Given the description of an element on the screen output the (x, y) to click on. 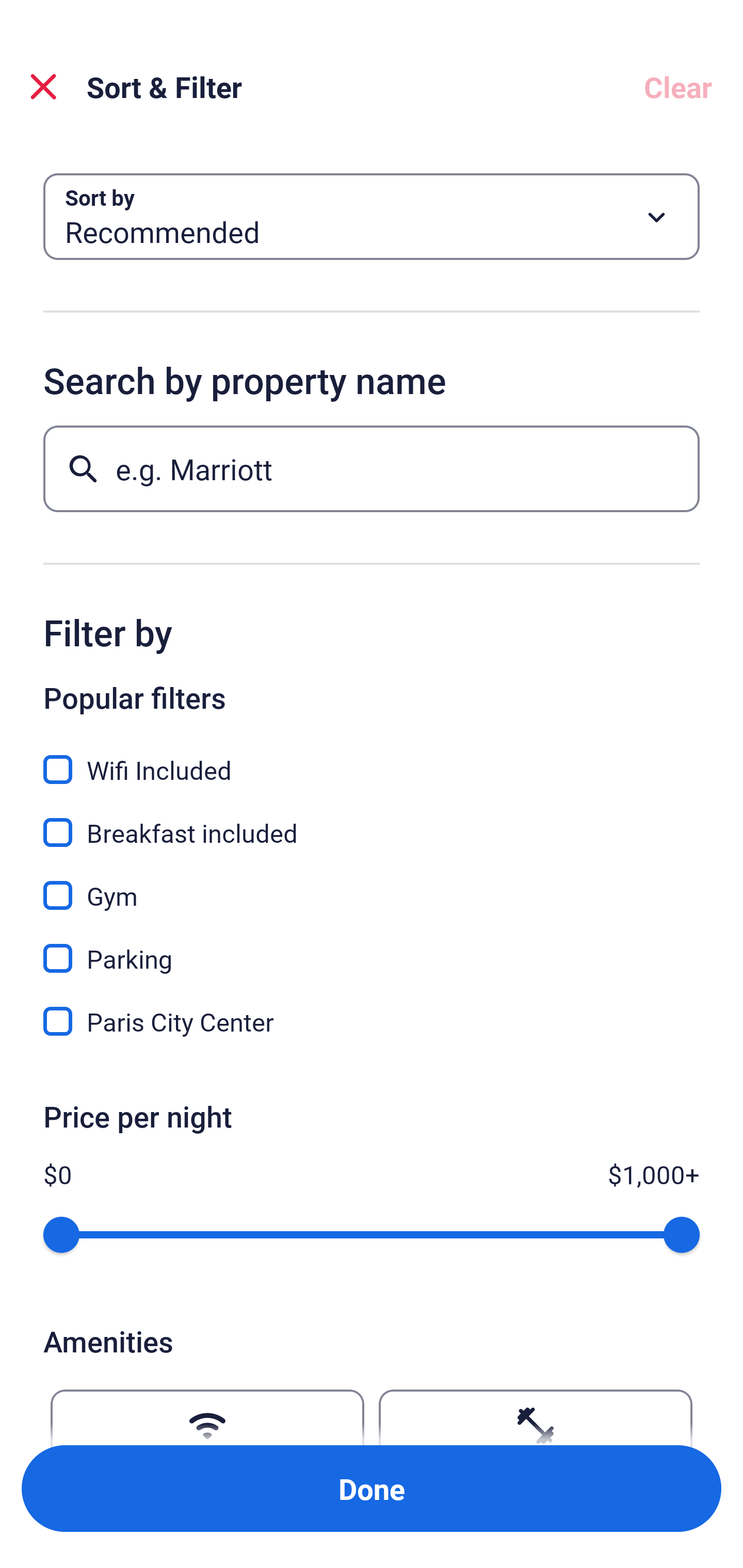
Close Sort and Filter (43, 86)
Clear (677, 86)
Sort by Button Recommended (371, 217)
e.g. Marriott Button (371, 468)
Wifi Included, Wifi Included (371, 757)
Breakfast included, Breakfast included (371, 821)
Gym, Gym (371, 883)
Parking, Parking (371, 946)
Paris City Center, Paris City Center (371, 1021)
Apply and close Sort and Filter Done (371, 1488)
